Given the description of an element on the screen output the (x, y) to click on. 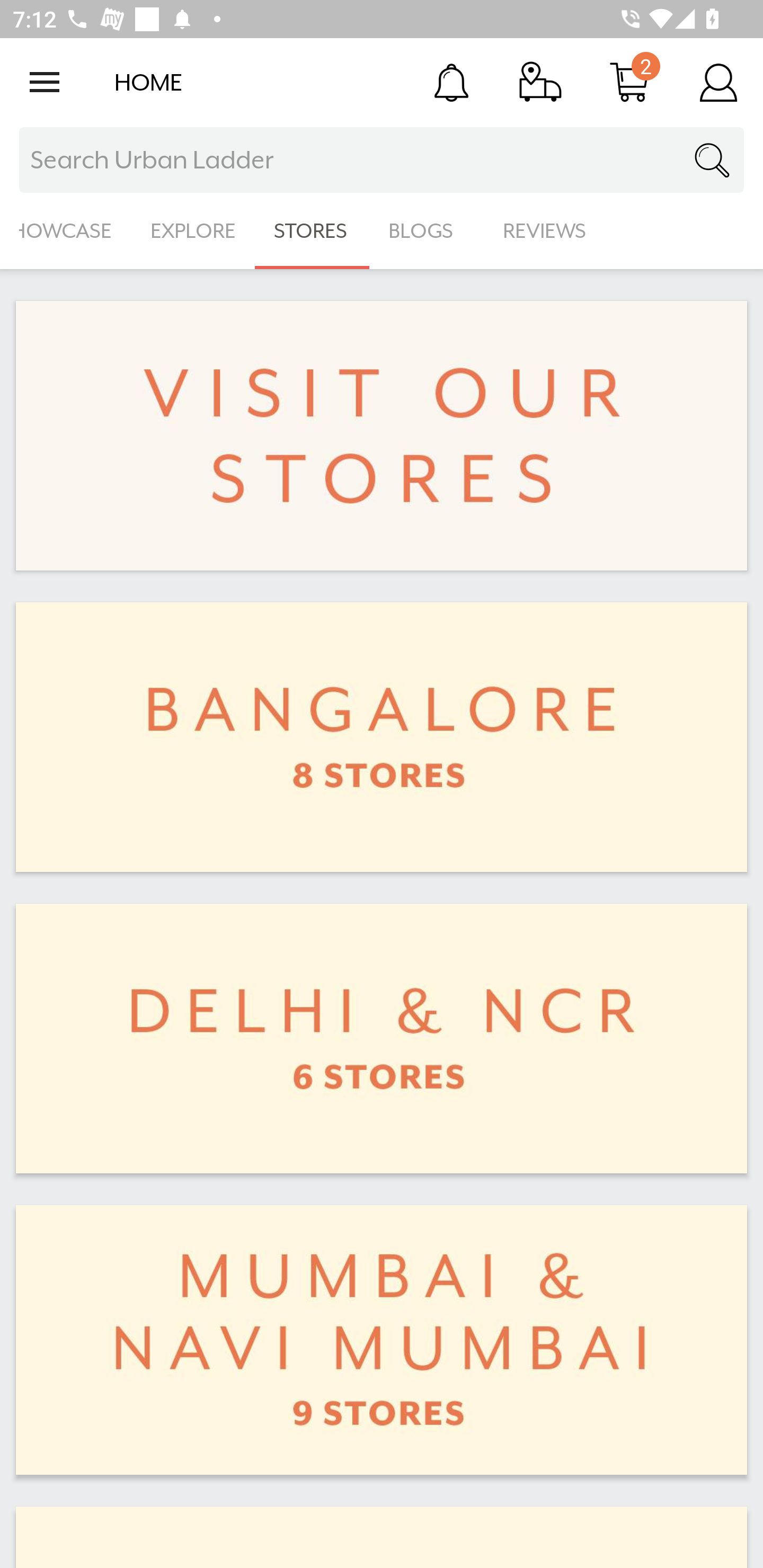
Open navigation drawer (44, 82)
Notification (450, 81)
Track Order (540, 81)
Cart (629, 81)
Account Details (718, 81)
Search Urban Ladder  (381, 159)
SHOWCASE (65, 230)
EXPLORE (192, 230)
STORES (311, 230)
BLOGS (426, 230)
REVIEWS (544, 230)
